Given the description of an element on the screen output the (x, y) to click on. 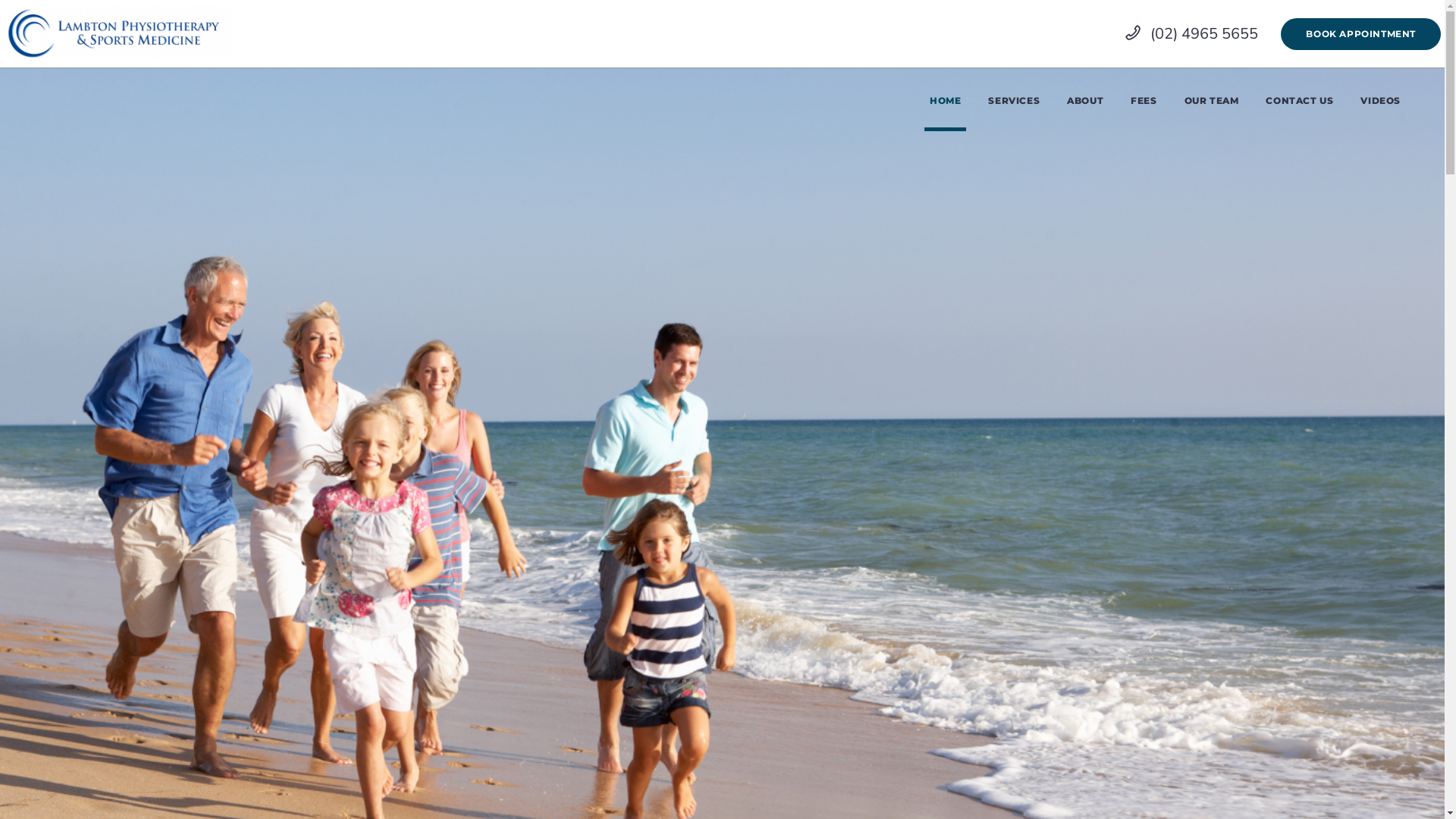
OUR TEAM Element type: text (1211, 99)
(02) 4965 5655 Element type: text (1191, 33)
HOME Element type: text (945, 99)
CONTACT US Element type: text (1299, 99)
ABOUT Element type: text (1085, 99)
SERVICES Element type: text (1013, 99)
FEES Element type: text (1143, 99)
VIDEOS Element type: text (1380, 99)
BOOK APPOINTMENT Element type: text (1360, 34)
